Given the description of an element on the screen output the (x, y) to click on. 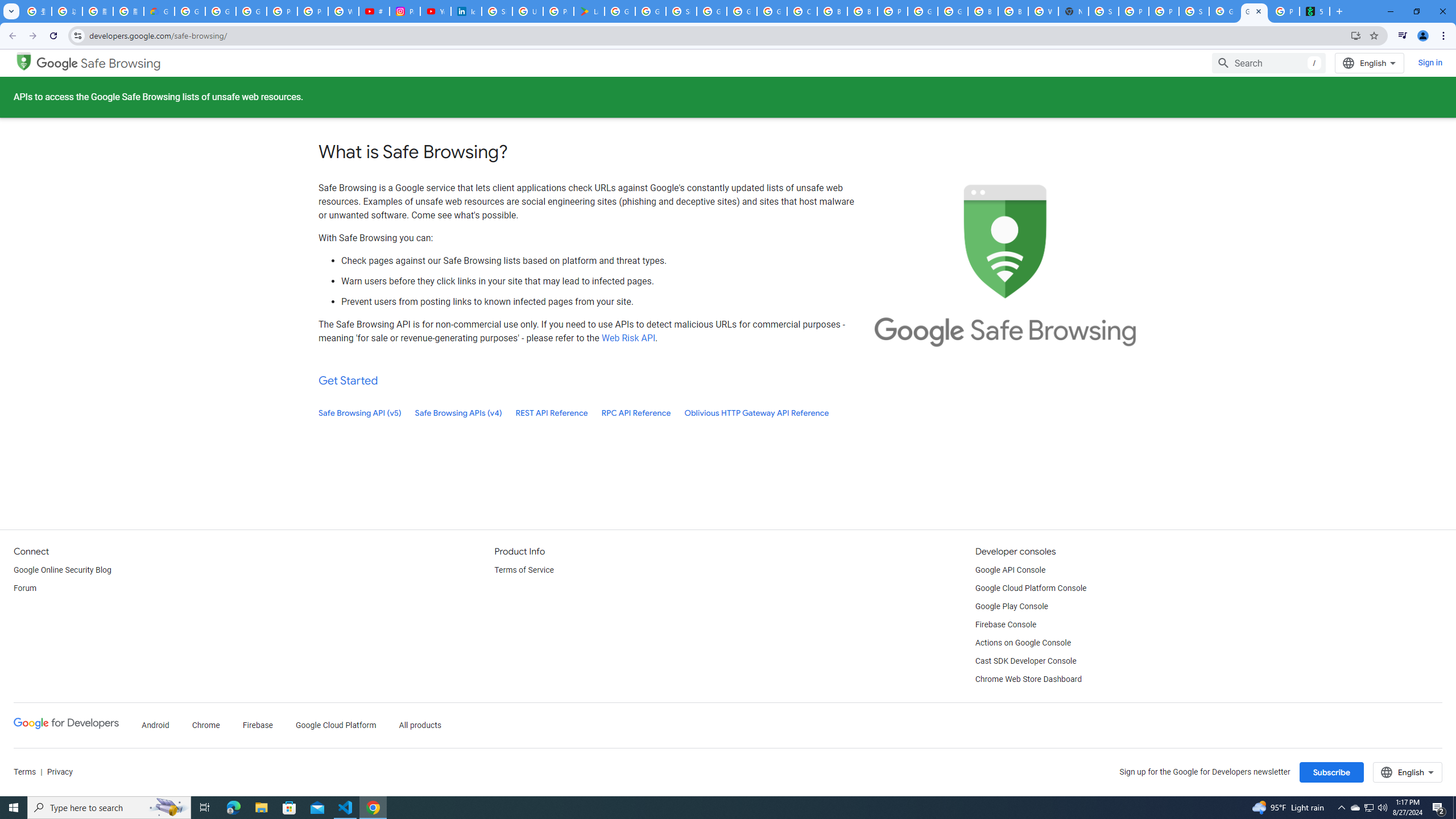
Google Cloud Platform (336, 725)
RPC API Reference (635, 412)
Android (154, 725)
Google Cloud Platform Console (1030, 588)
Sign in - Google Accounts (681, 11)
Browse Chrome as a guest - Computer - Google Chrome Help (862, 11)
Oblivious HTTP Gateway API Reference (756, 412)
Sign in - Google Accounts (1103, 11)
Google Developers (66, 723)
